Given the description of an element on the screen output the (x, y) to click on. 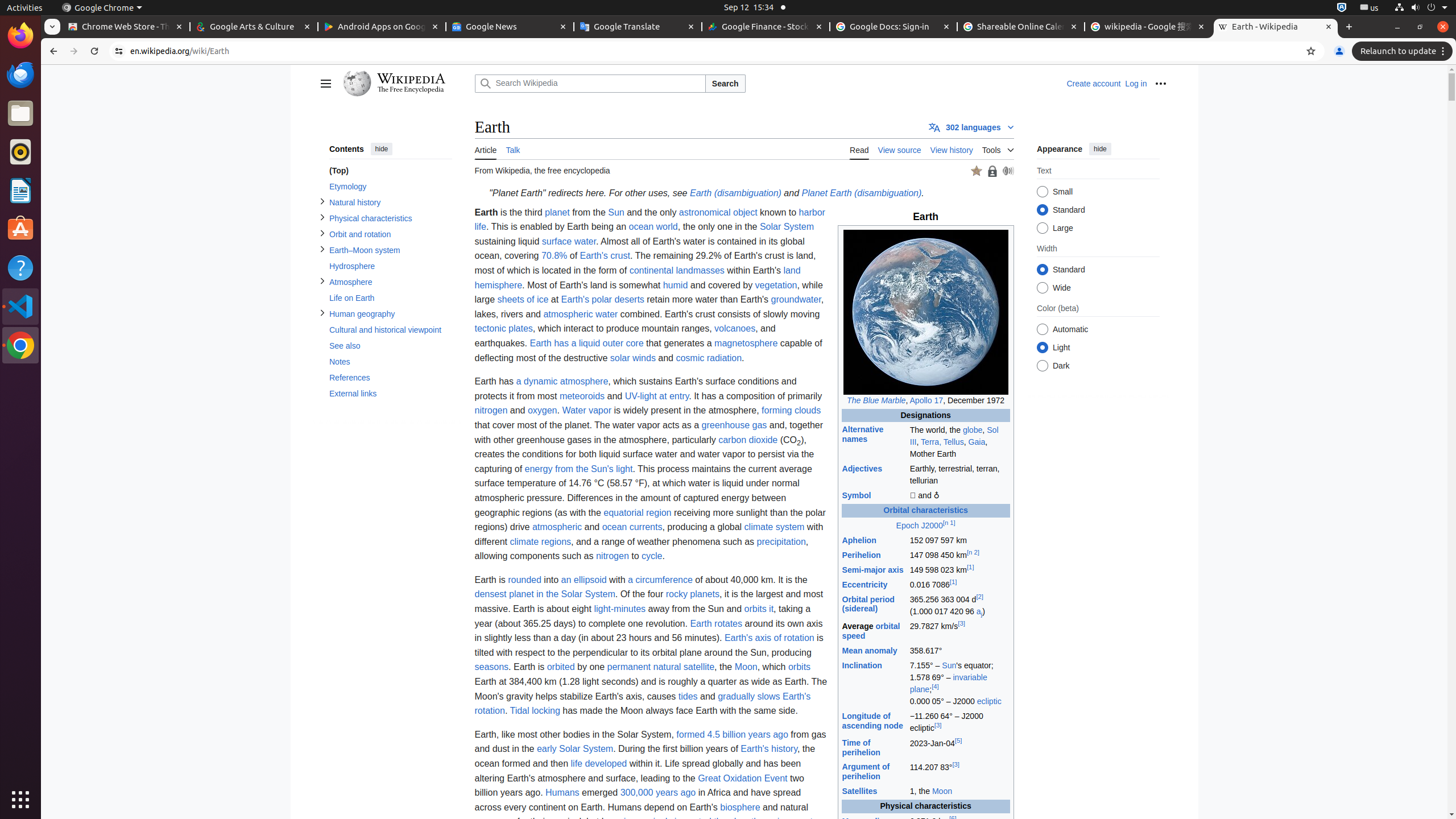
humid Element type: link (675, 284)
152097597 km Element type: table-cell (959, 540)
Natural history Element type: link (390, 202)
[n 2] Element type: link (972, 552)
Ubuntu Software Element type: push-button (20, 229)
